Given the description of an element on the screen output the (x, y) to click on. 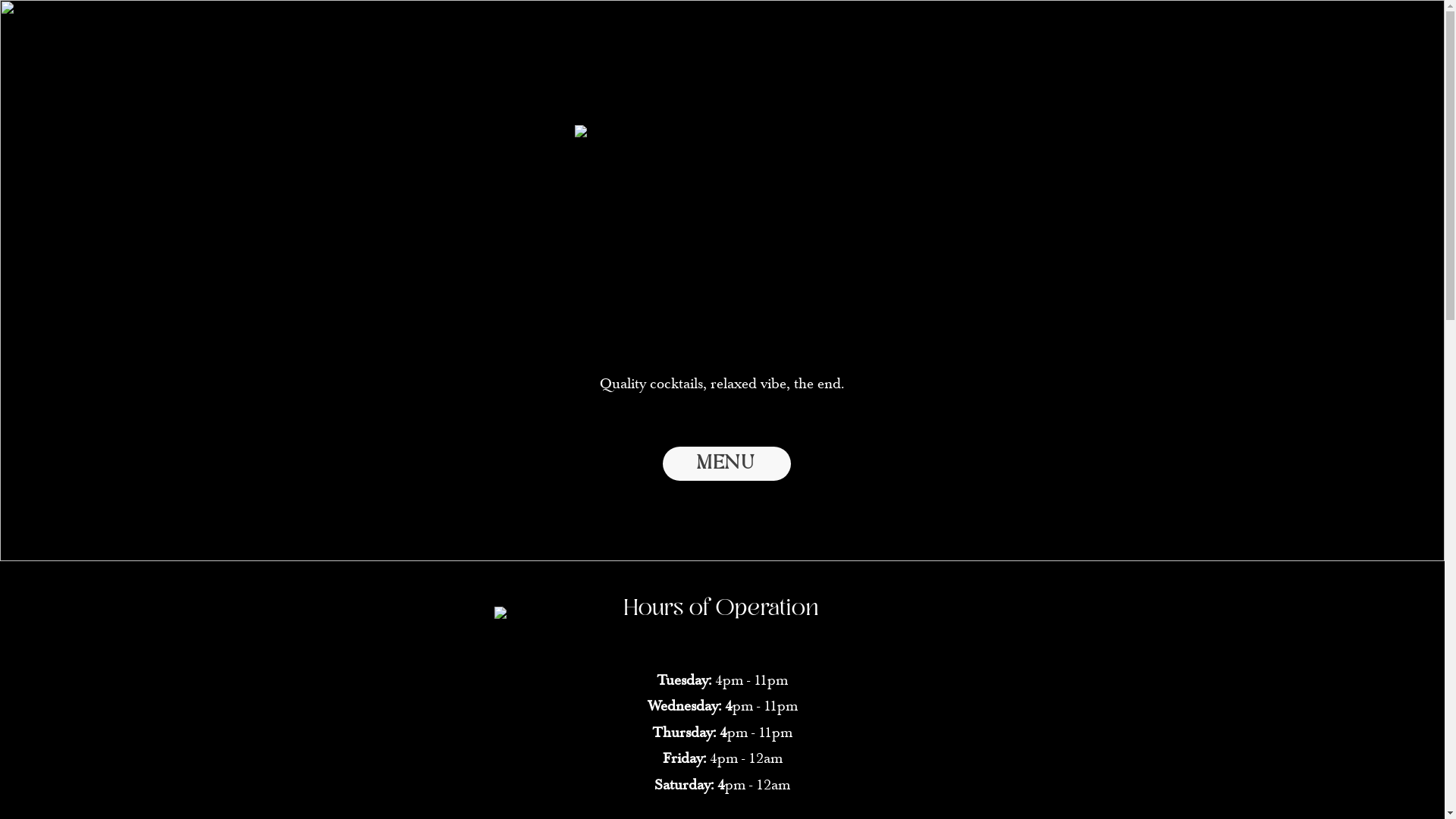
MENU Element type: text (726, 463)
